Given the description of an element on the screen output the (x, y) to click on. 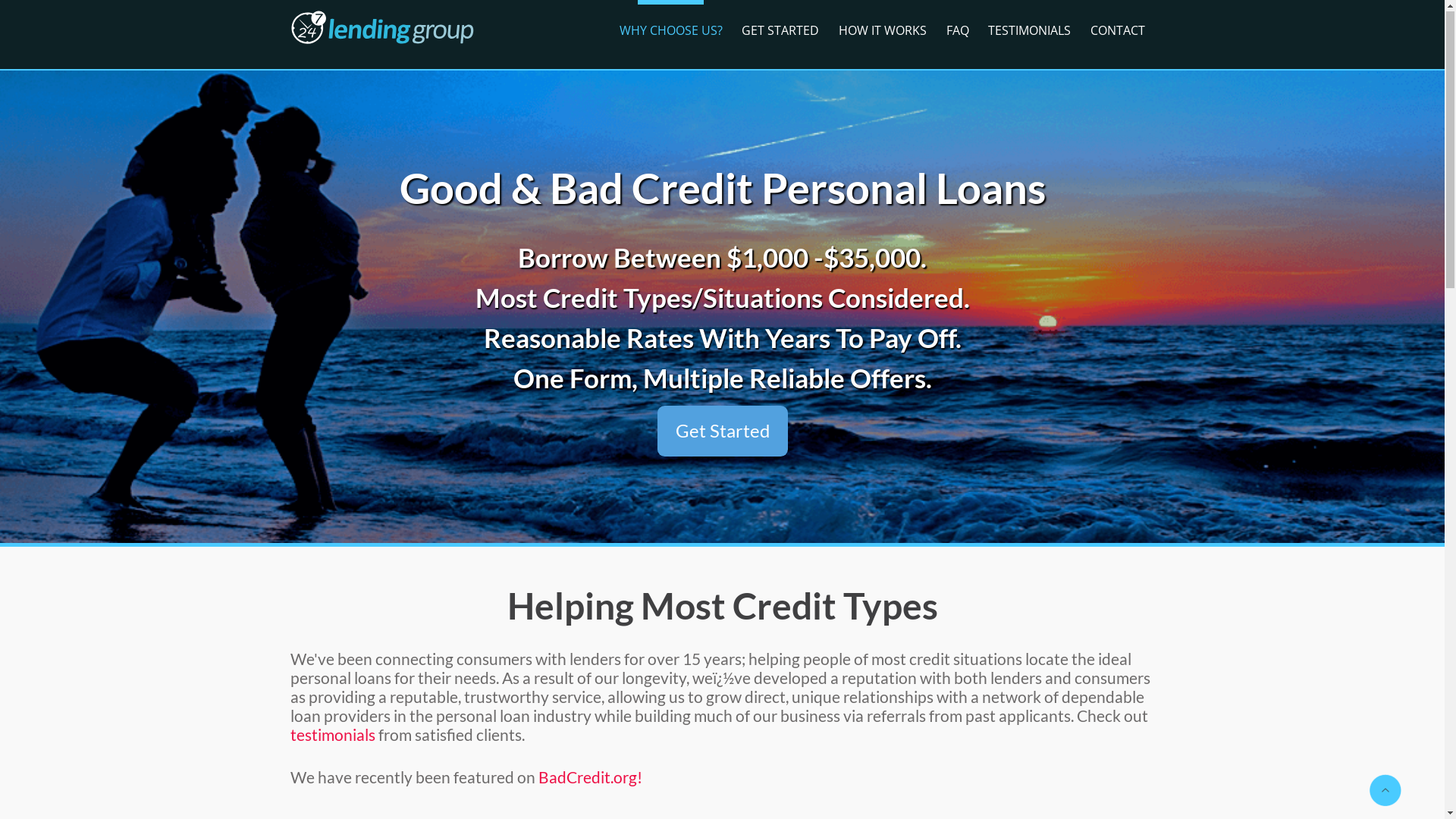
testimonials Element type: text (331, 734)
GET STARTED Element type: text (780, 31)
CONTACT Element type: text (1117, 31)
FAQ Element type: text (957, 31)
BadCredit.org! Element type: text (590, 777)
HOW IT WORKS Element type: text (882, 31)
TESTIMONIALS Element type: text (1029, 31)
WHY CHOOSE US? Element type: text (670, 31)
Get Started Element type: text (721, 432)
